Given the description of an element on the screen output the (x, y) to click on. 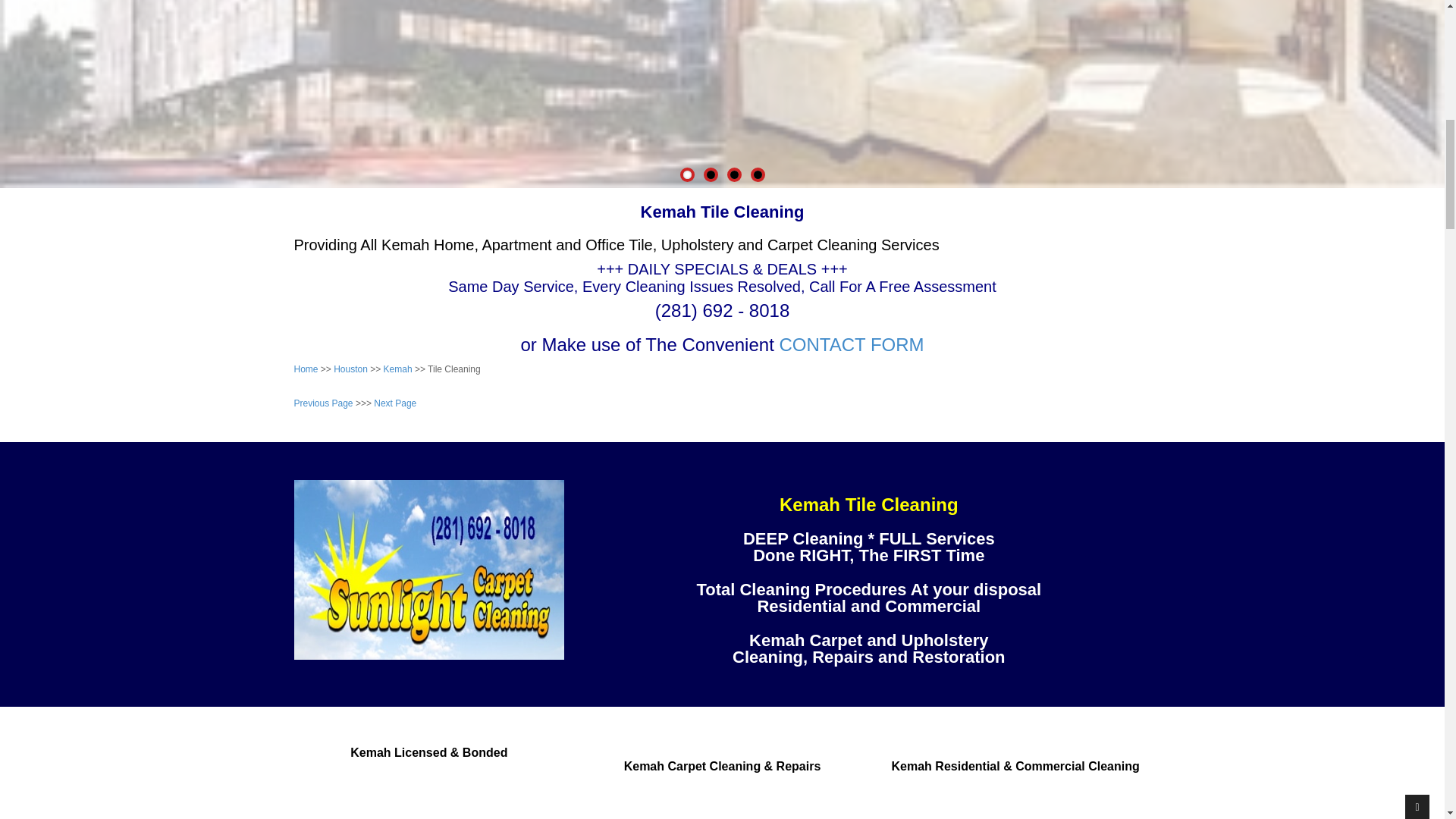
Kemah (398, 368)
Next Page (395, 403)
CONTACT FORM (850, 344)
4 (757, 174)
Previous Page (323, 403)
3 (733, 174)
2 (710, 174)
1 (686, 174)
Home (306, 368)
Houston (350, 368)
